Given the description of an element on the screen output the (x, y) to click on. 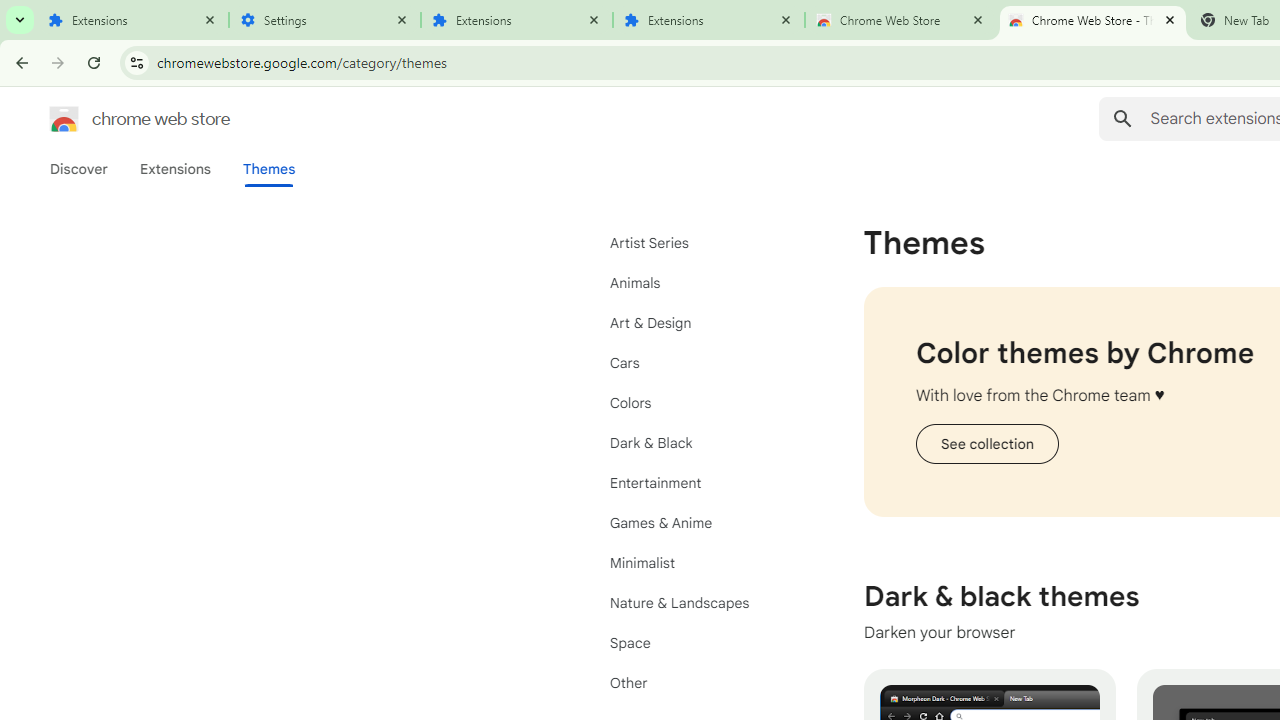
Chrome Web Store logo (63, 118)
Extensions (174, 169)
Dark & Black (700, 442)
Entertainment (700, 482)
See the "Color themes by Chrome" collection (986, 443)
Discover (79, 169)
Chrome Web Store - Themes (1093, 20)
Games & Anime (700, 522)
Chrome Web Store logo chrome web store (118, 118)
Artist Series (700, 242)
Colors (700, 403)
